Given the description of an element on the screen output the (x, y) to click on. 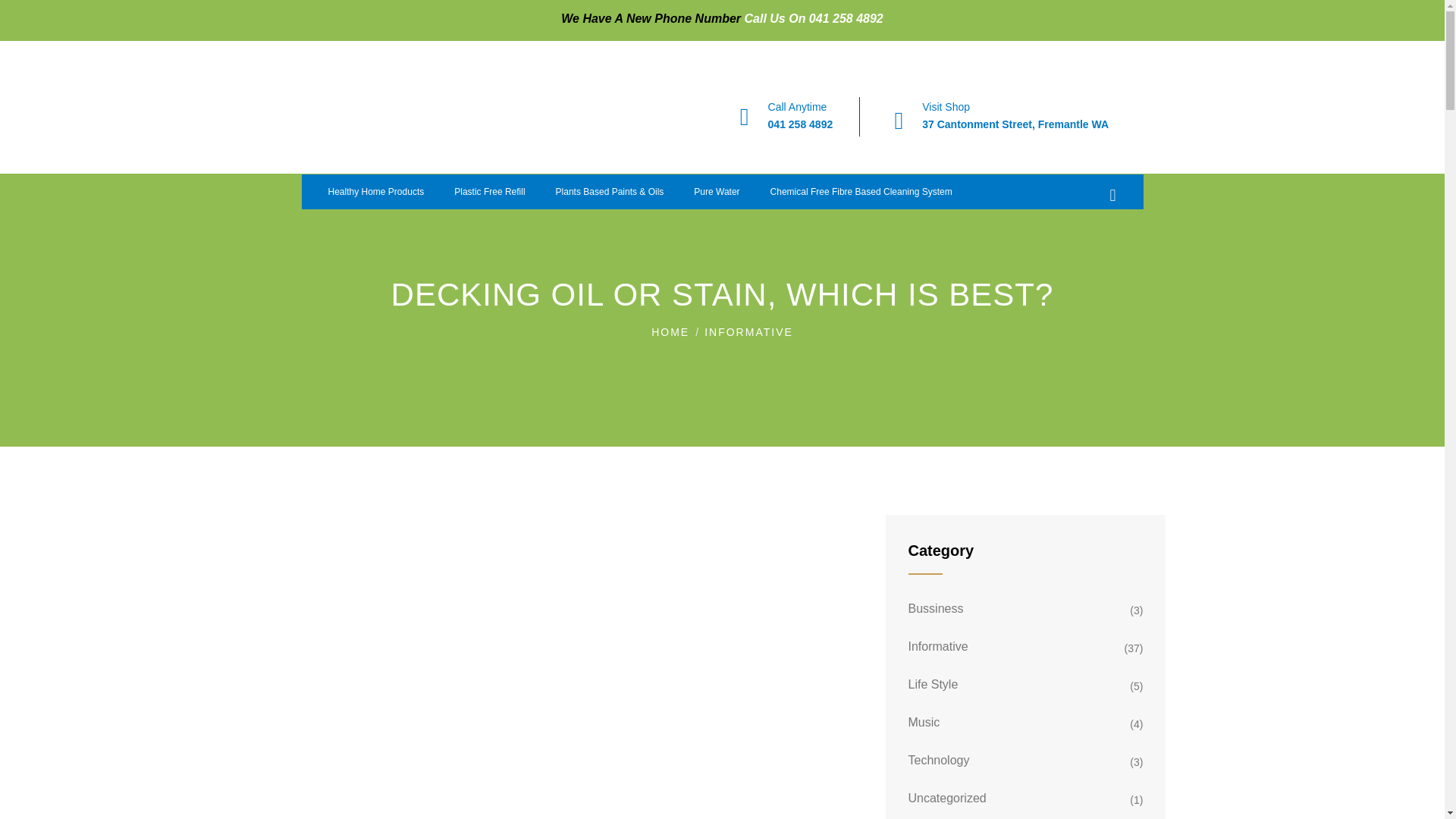
041 258 4892 (800, 123)
Visit Shop (945, 106)
Healthy Home Products (376, 191)
Pure Water (716, 191)
Home (379, 116)
Plastic Free Refill (489, 191)
